Given the description of an element on the screen output the (x, y) to click on. 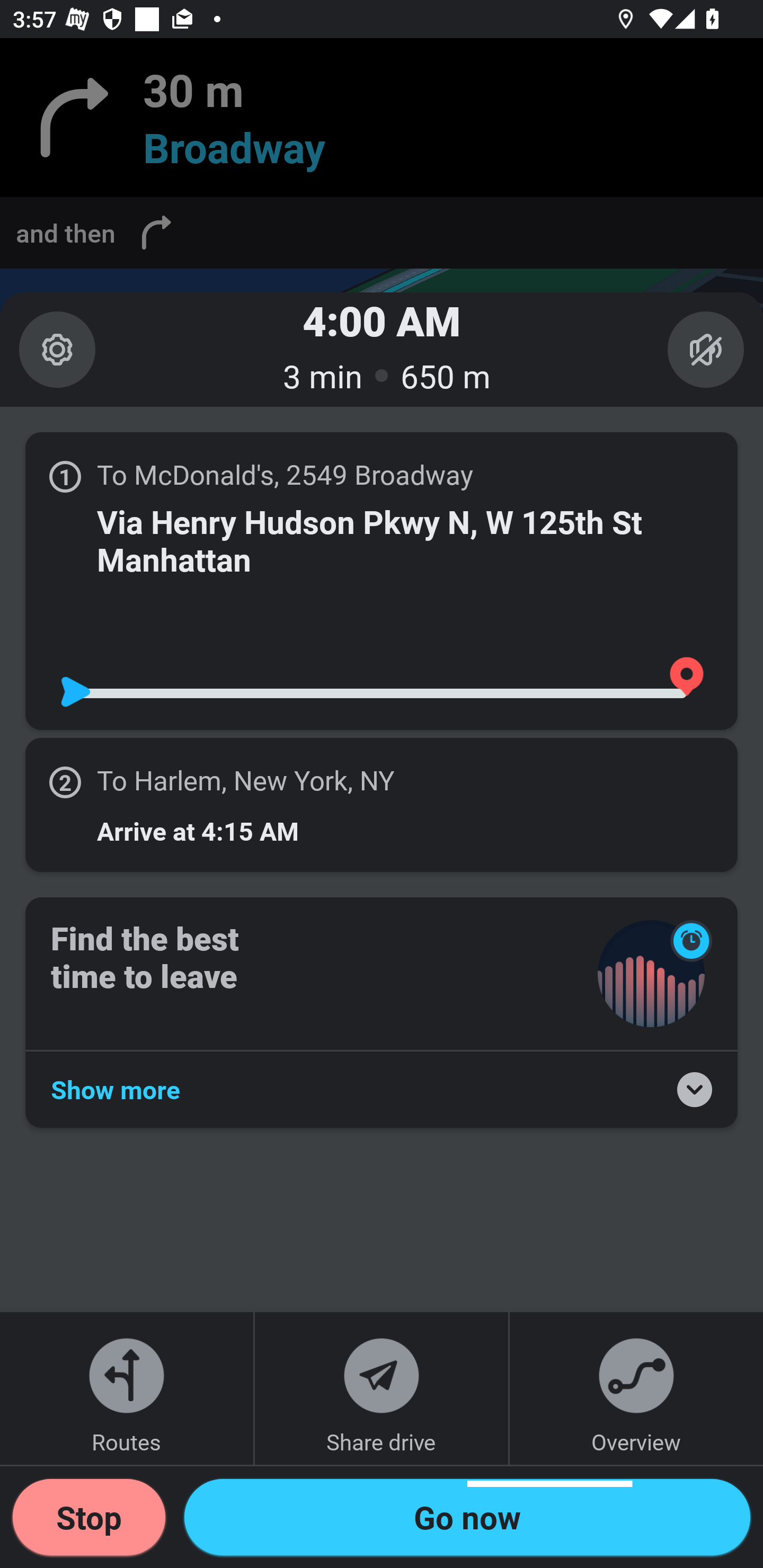
30 m Broadway (381, 117)
4:00 AM 3 min 650 m (381, 348)
Find the best time to leave Show more (381, 1011)
Routes (126, 1388)
Share drive (381, 1388)
Overview (636, 1388)
Stop (88, 1516)
ETA_DRAWER_GO_BUTTON Go now (466, 1516)
